Given the description of an element on the screen output the (x, y) to click on. 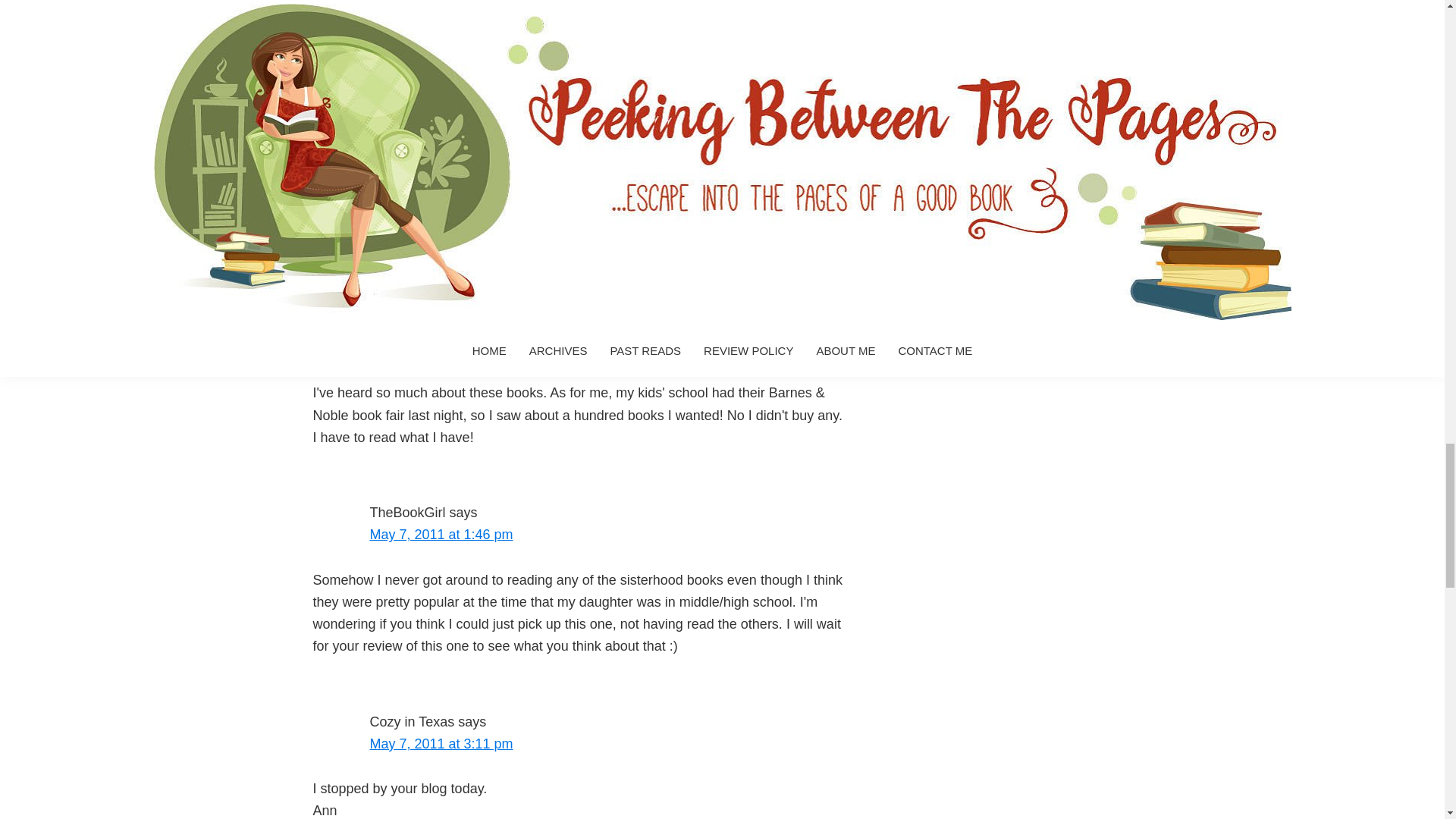
May 7, 2011 at 3:11 pm (441, 743)
May 6, 2011 at 4:13 pm (441, 347)
May 6, 2011 at 2:51 pm (441, 40)
May 7, 2011 at 1:46 pm (441, 534)
May 6, 2011 at 4:09 pm (441, 183)
